Given the description of an element on the screen output the (x, y) to click on. 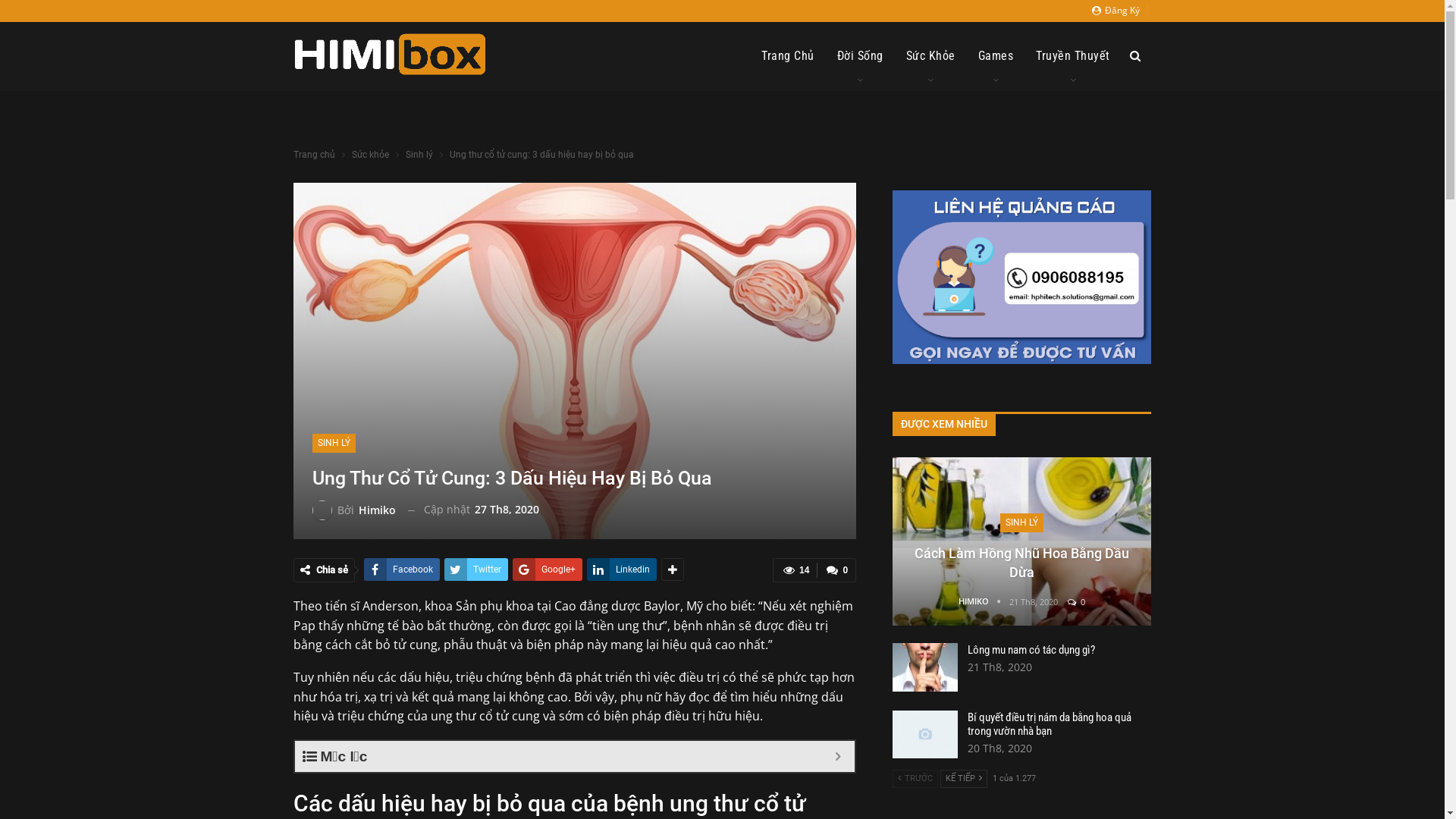
0 Element type: text (1076, 601)
Linkedin Element type: text (621, 569)
0 Element type: text (836, 570)
Facebook Element type: text (401, 569)
Twitter Element type: text (476, 569)
HIMIKO Element type: text (983, 600)
Games Element type: text (995, 55)
Google+ Element type: text (547, 569)
